Given the description of an element on the screen output the (x, y) to click on. 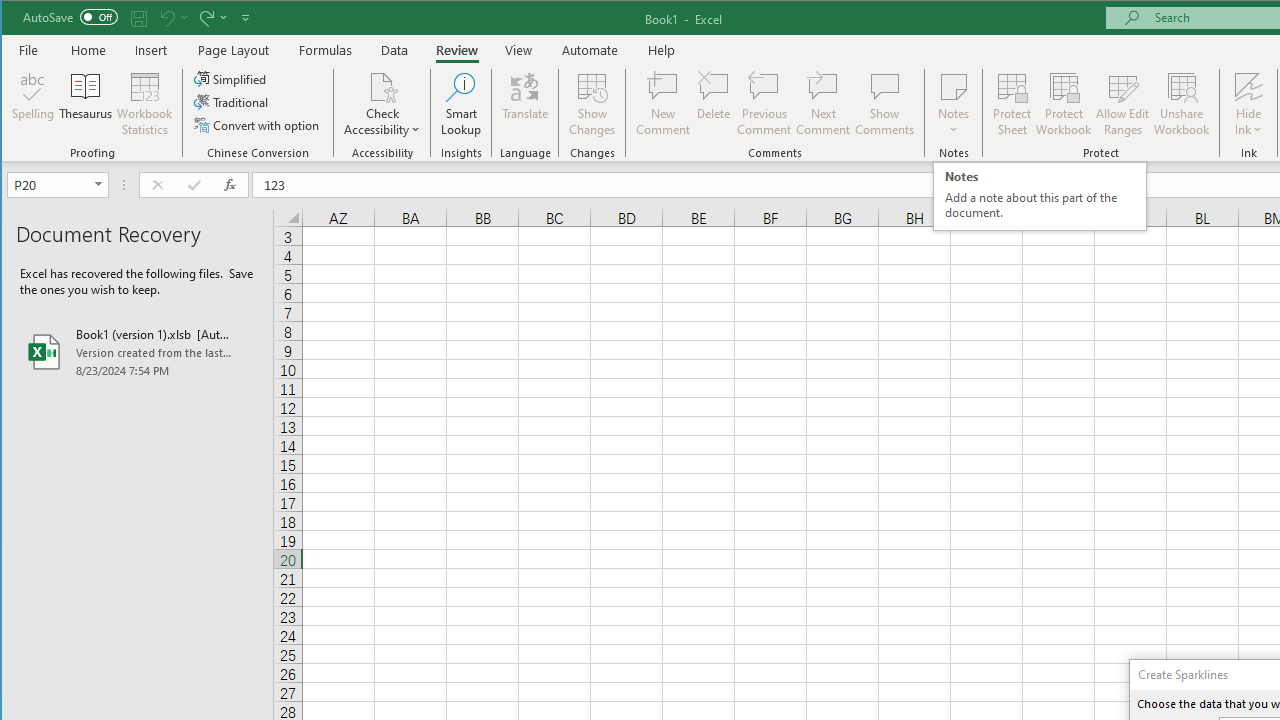
Spelling... (33, 104)
Traditional (232, 101)
Check Accessibility (381, 86)
Simplified (231, 78)
Smart Lookup (461, 104)
Next Comment (822, 104)
Check Accessibility (381, 104)
